Given the description of an element on the screen output the (x, y) to click on. 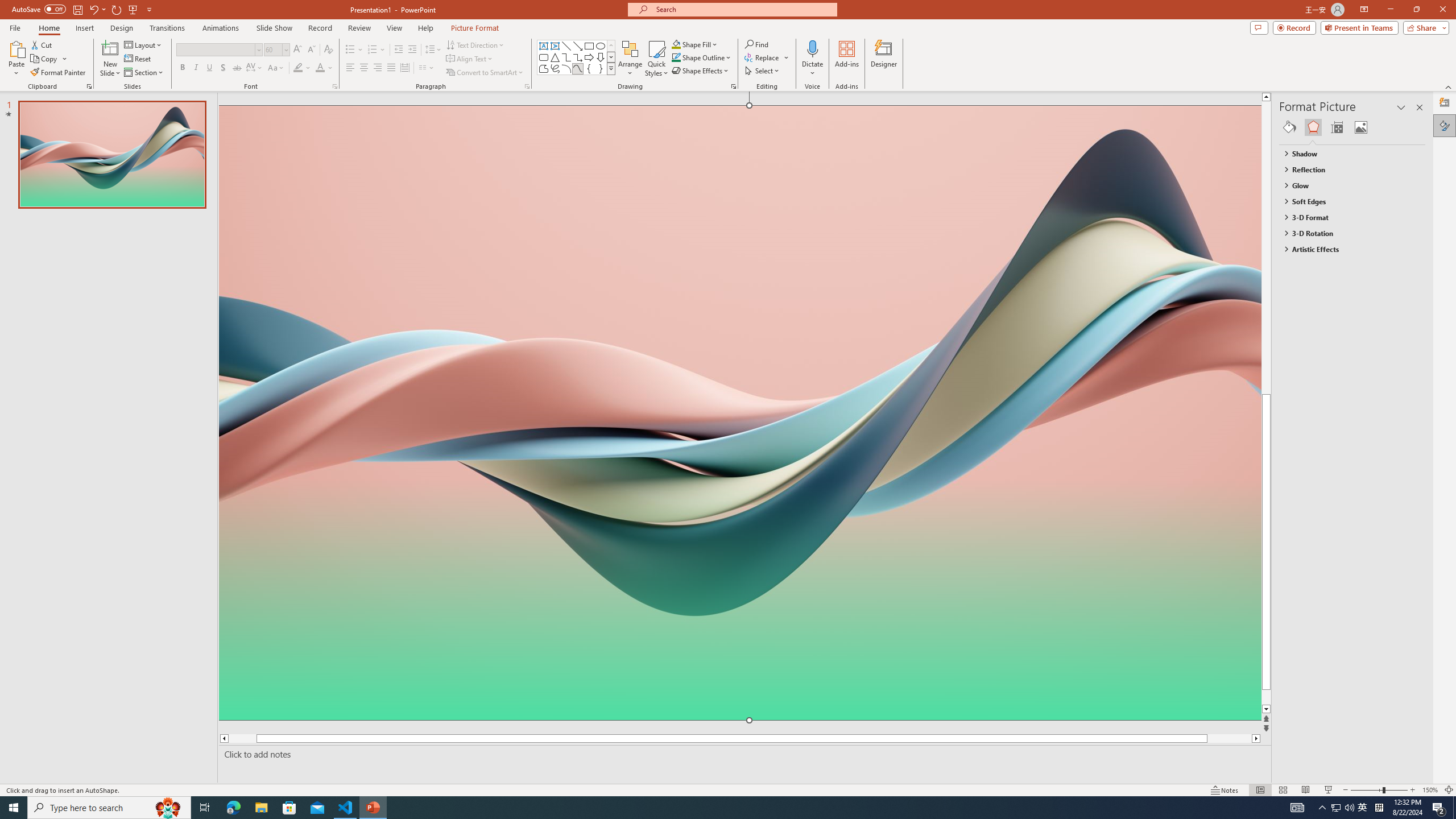
Class: NetUIScrollBar (1420, 460)
